Given the description of an element on the screen output the (x, y) to click on. 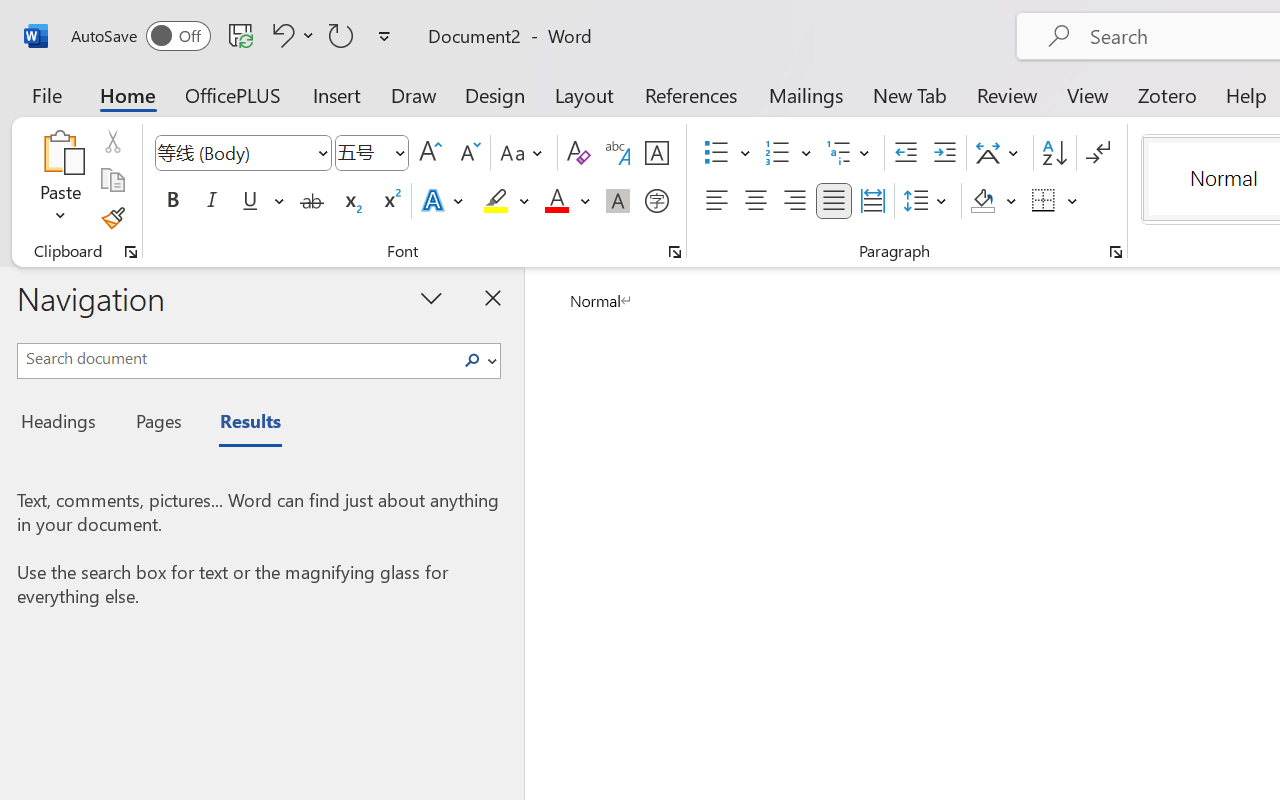
Undo Apply Quick Style (290, 35)
References (690, 94)
Office Clipboard... (131, 252)
Zotero (1166, 94)
Paragraph... (1115, 252)
Text Highlight Color (506, 201)
Task Pane Options (431, 297)
Sort... (1054, 153)
Change Case (524, 153)
Italic (212, 201)
Font Color Red (556, 201)
